Given the description of an element on the screen output the (x, y) to click on. 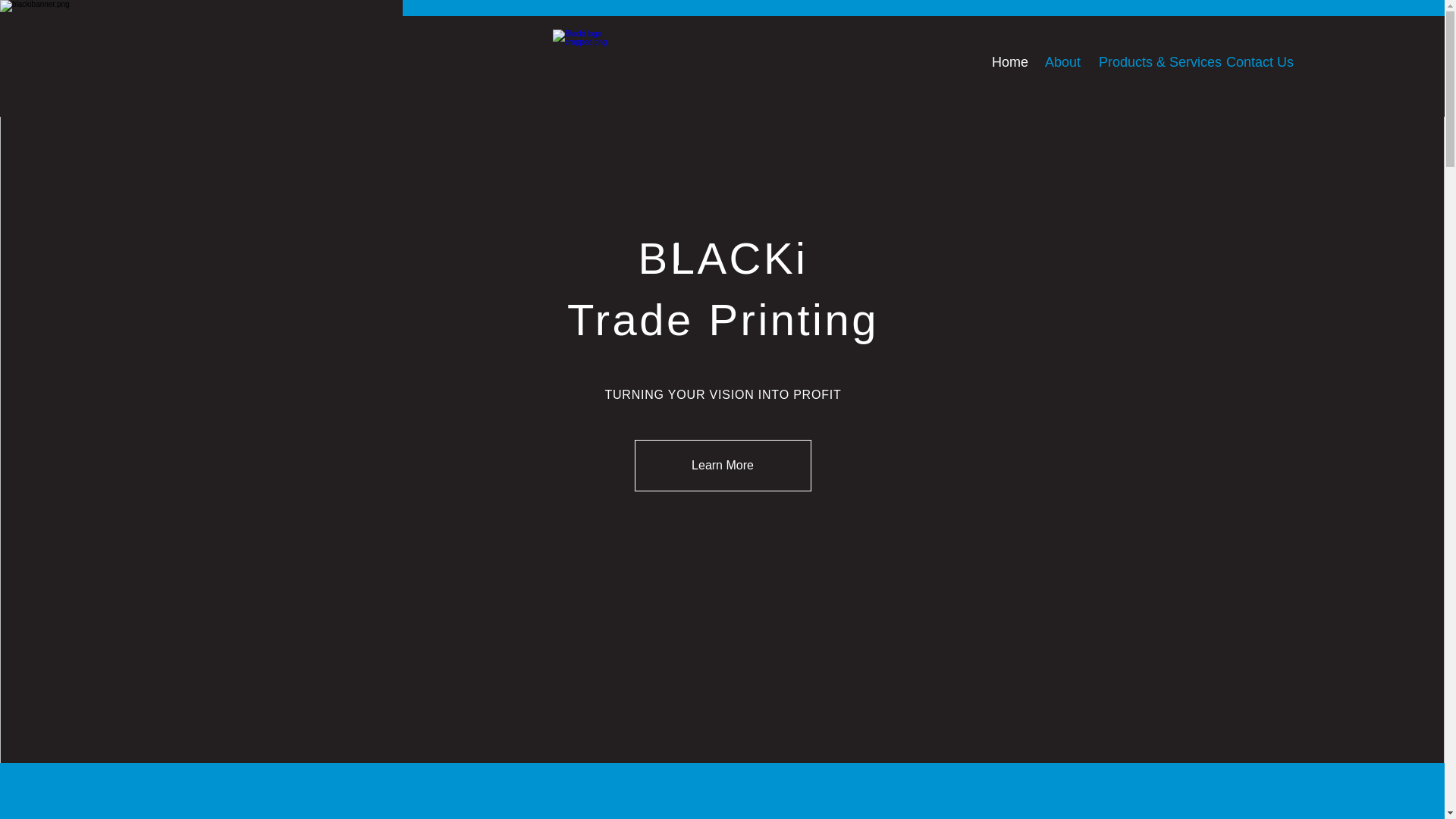
Learn More (721, 465)
About (1060, 62)
Contact Us (1254, 62)
Home (1006, 62)
